Given the description of an element on the screen output the (x, y) to click on. 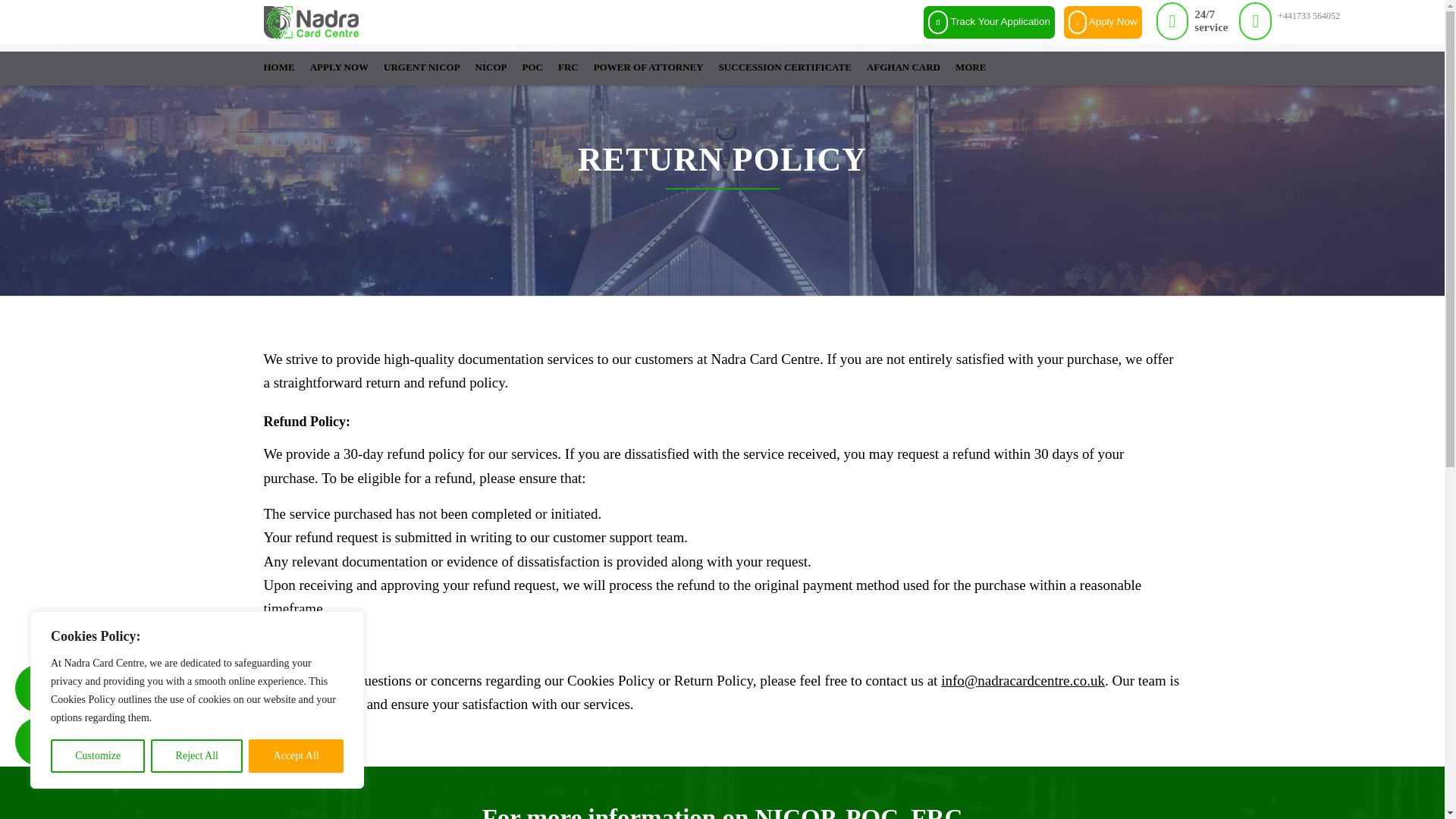
Accept All (295, 756)
Reject All (197, 756)
 447925231592 (39, 688)
Telegram (39, 741)
Customize (97, 756)
